Given the description of an element on the screen output the (x, y) to click on. 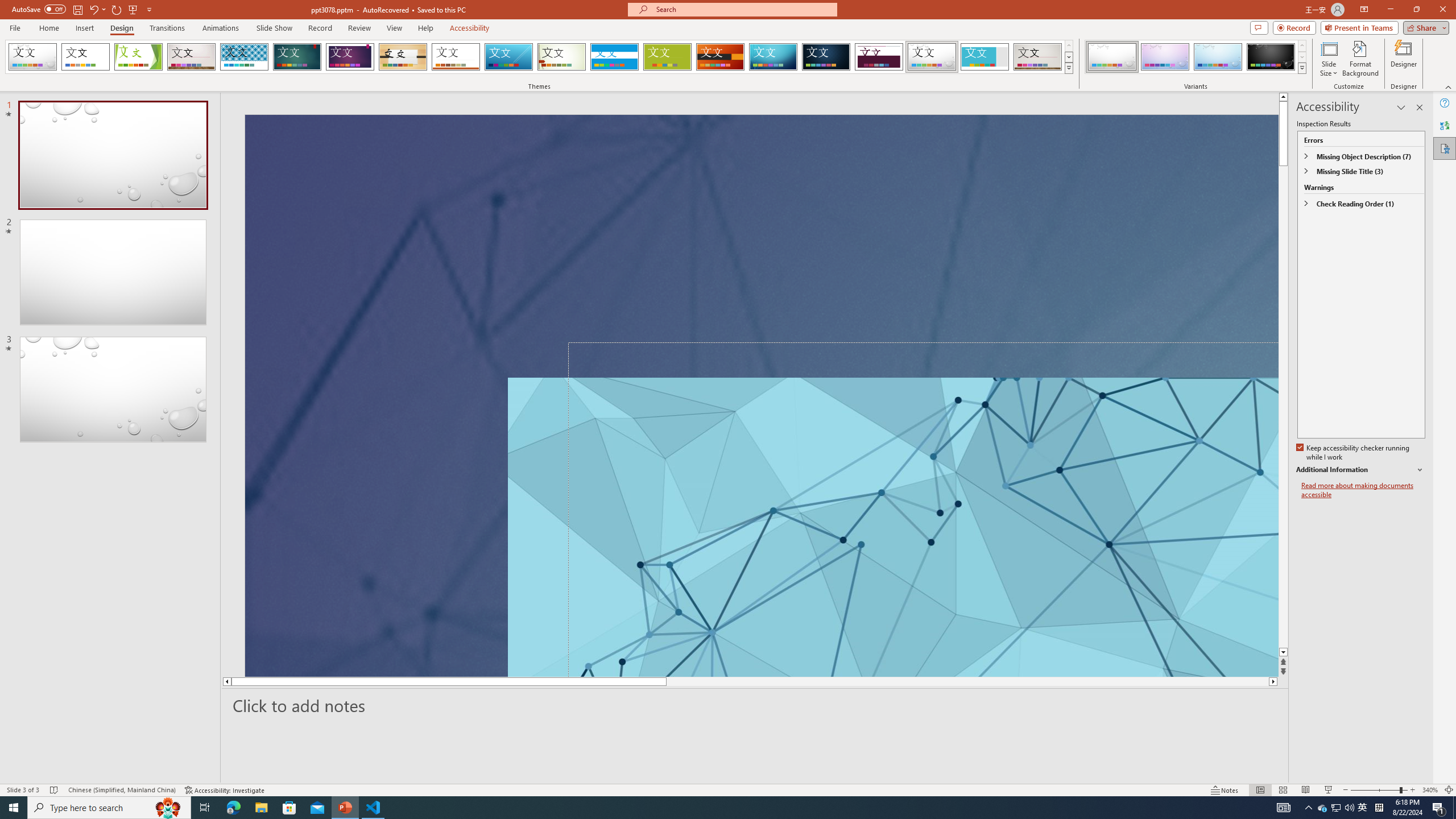
Slice (508, 56)
Droplet (931, 56)
Retrospect (455, 56)
Zoom 340% (1430, 790)
Slide Size (1328, 58)
